Given the description of an element on the screen output the (x, y) to click on. 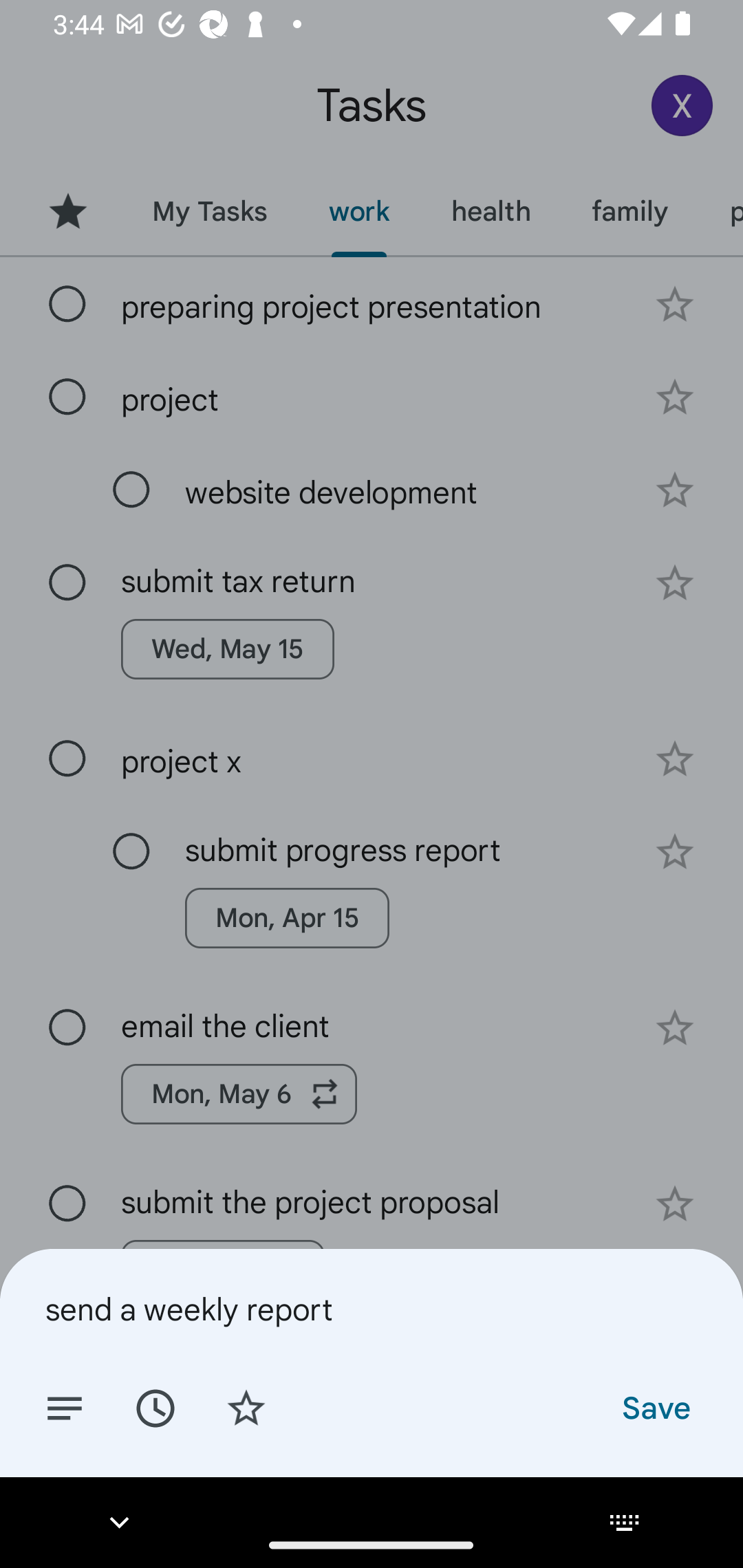
send a weekly report (371, 1308)
Save (655, 1407)
Add details (64, 1407)
Set date/time (154, 1407)
Add star (245, 1407)
